Given the description of an element on the screen output the (x, y) to click on. 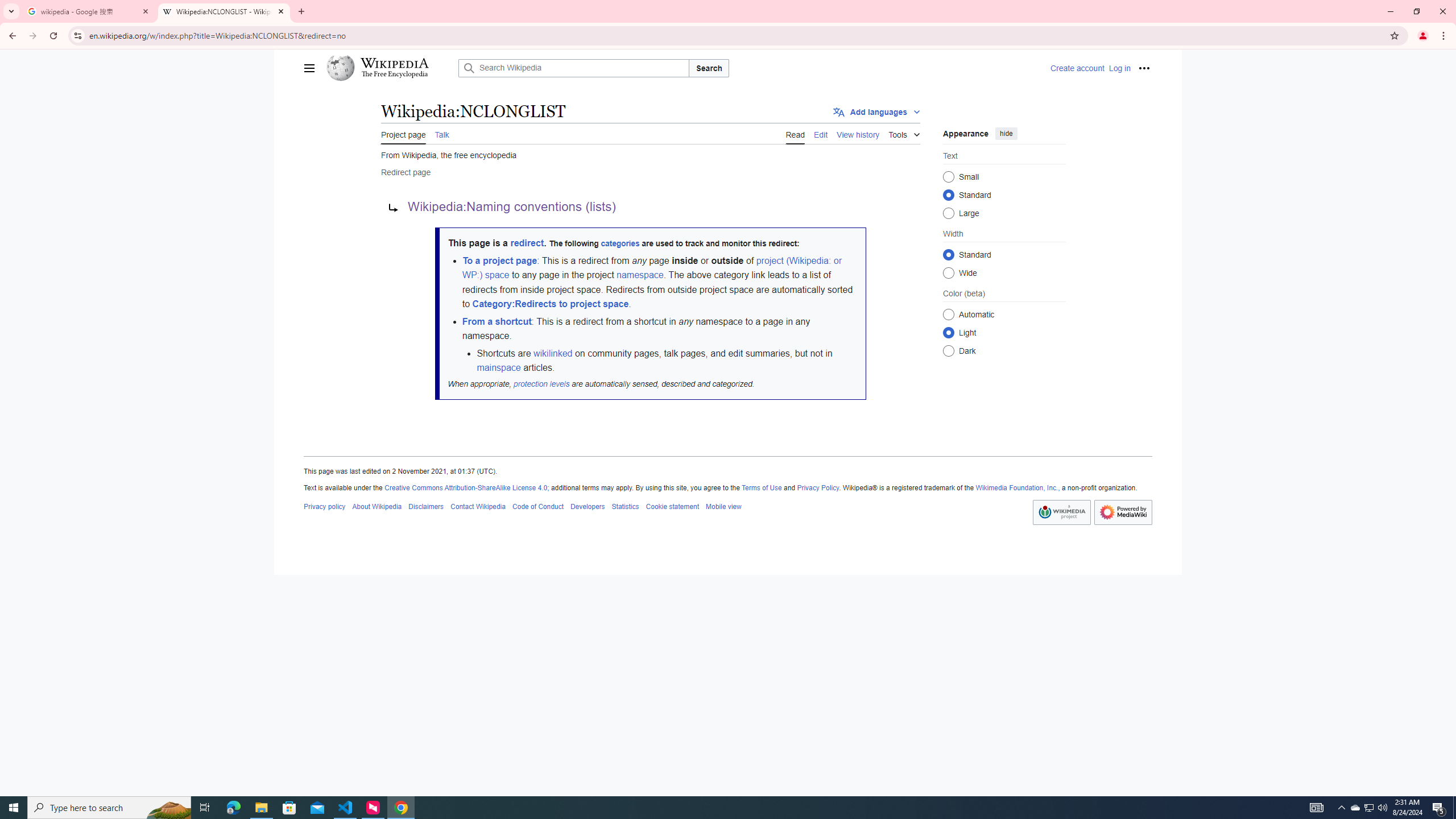
Privacy policy (325, 506)
Wikimedia Foundation, Inc. (1016, 488)
AutomationID: footer-places-contact (477, 506)
Chrome (1445, 35)
Restore (1416, 11)
AutomationID: pt-login-2 (1119, 67)
Cookie statement (671, 506)
AutomationID: ca-view (794, 133)
AutomationID: footer-info-copyright (727, 487)
Wikipedia:Naming conventions (lists) (511, 206)
Edit (820, 133)
Wikipedia:NCLONGLIST - Wikipedia (224, 11)
Privacy Policy (818, 488)
You (1422, 35)
